Given the description of an element on the screen output the (x, y) to click on. 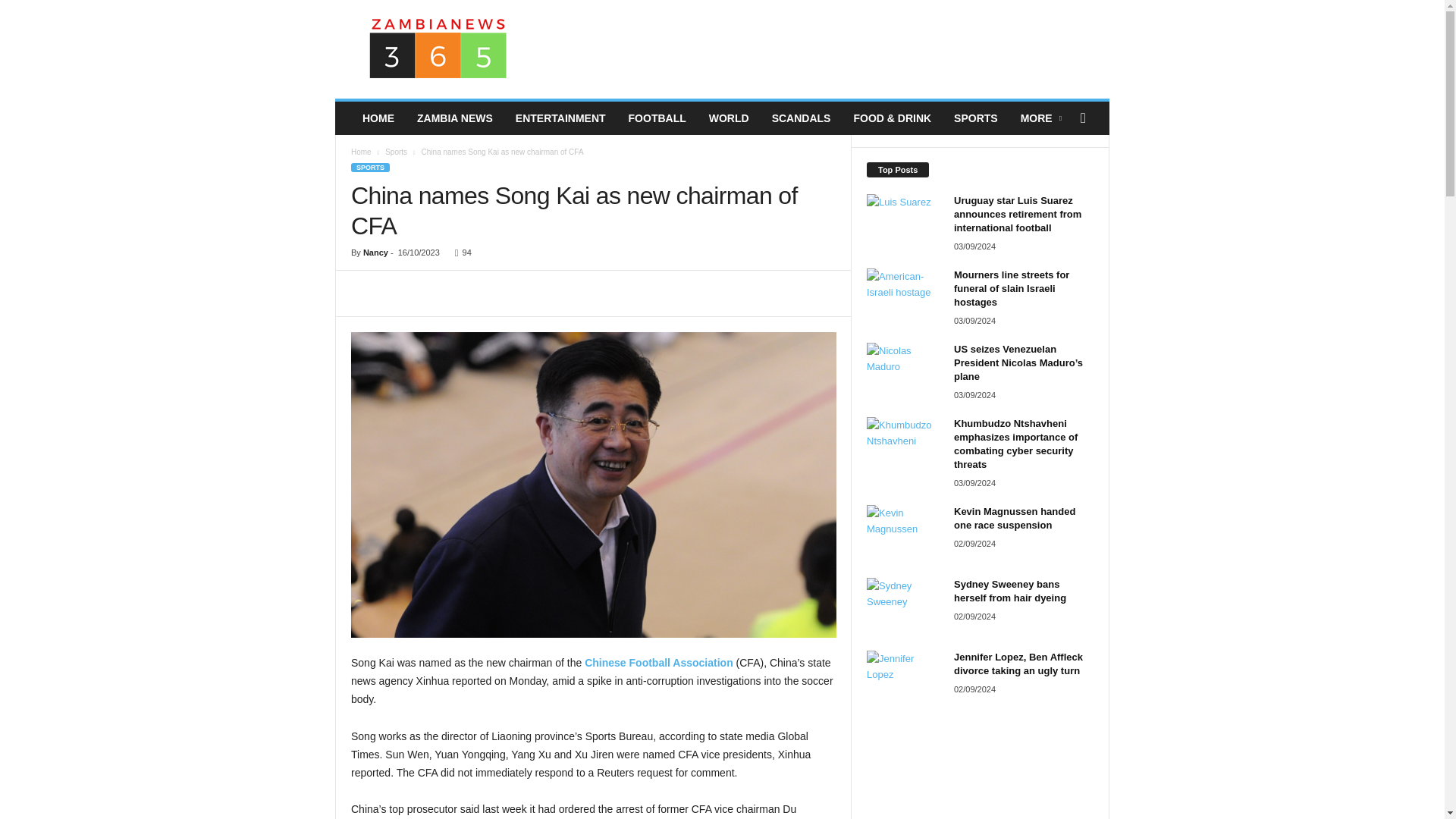
ZAMBIA NEWS (454, 118)
HOME (378, 118)
Nancy (375, 252)
Sports (396, 152)
Home (360, 152)
View all posts in Sports (396, 152)
SPORTS (975, 118)
FOOTBALL (657, 118)
SCANDALS (801, 118)
